Given the description of an element on the screen output the (x, y) to click on. 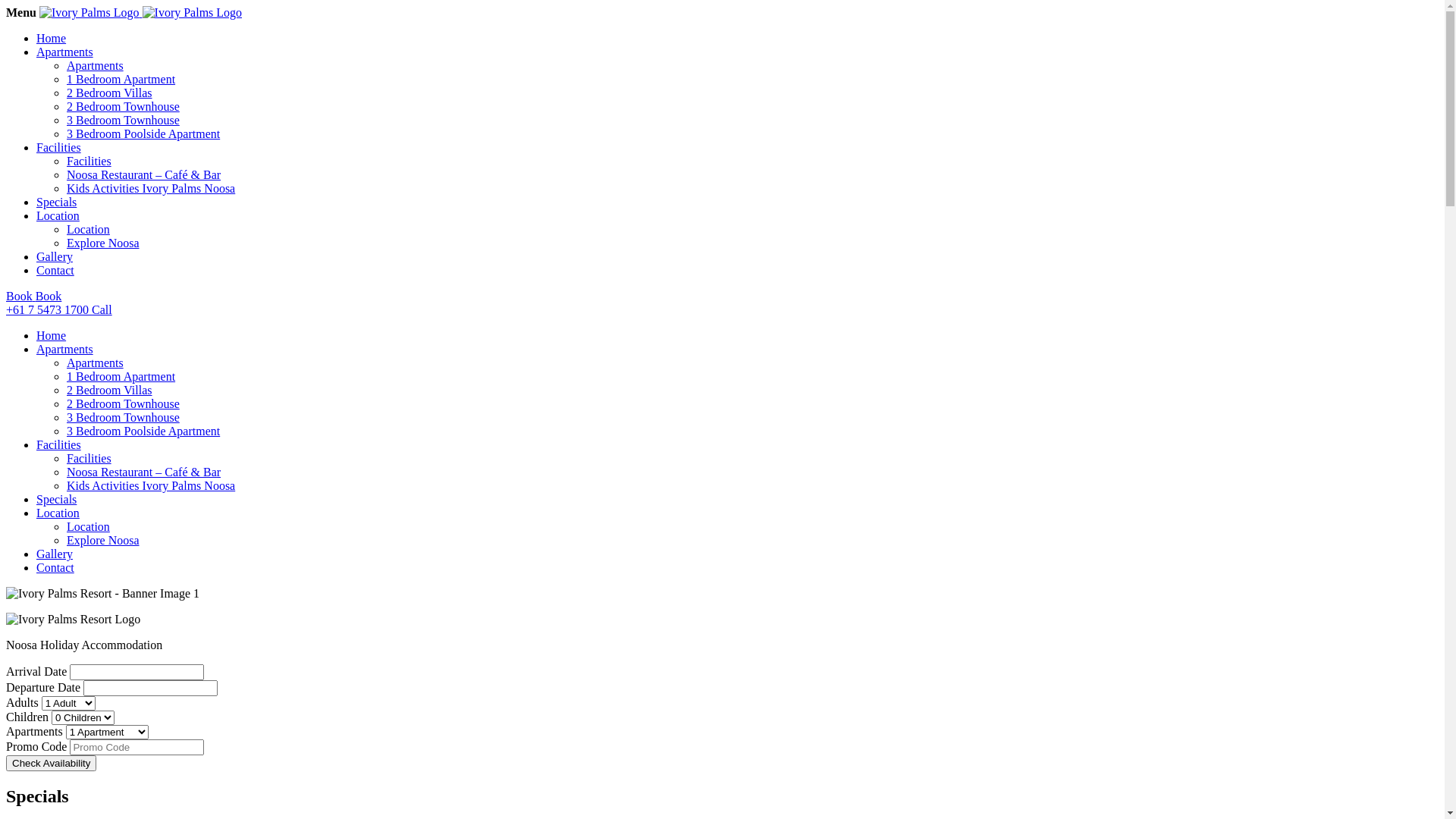
1 Bedroom Apartment Element type: text (120, 376)
Location Element type: text (87, 526)
3 Bedroom Townhouse Element type: text (122, 119)
Contact Element type: text (55, 567)
Home Element type: text (50, 335)
Location Element type: text (57, 512)
2 Bedroom Townhouse Element type: text (122, 403)
Specials Element type: text (56, 201)
Contact Element type: text (55, 269)
Specials Element type: text (56, 498)
2 Bedroom Townhouse Element type: text (122, 106)
2 Bedroom Villas Element type: text (109, 92)
Book Book Element type: text (722, 296)
1 Bedroom Apartment Element type: text (120, 78)
Apartments Element type: text (64, 51)
Facilities Element type: text (88, 160)
Kids Activities Ivory Palms Noosa Element type: text (150, 188)
Check Availability Element type: text (51, 763)
Facilities Element type: text (88, 457)
Explore Noosa Element type: text (102, 539)
Explore Noosa Element type: text (102, 242)
3 Bedroom Poolside Apartment Element type: text (142, 430)
Facilities Element type: text (58, 147)
Apartments Element type: text (64, 348)
Gallery Element type: text (54, 553)
Menu Element type: text (21, 12)
+61 7 5473 1700 Call Element type: text (722, 309)
Kids Activities Ivory Palms Noosa Element type: text (150, 485)
3 Bedroom Poolside Apartment Element type: text (142, 133)
Home Element type: text (50, 37)
2 Bedroom Villas Element type: text (109, 389)
Gallery Element type: text (54, 256)
3 Bedroom Townhouse Element type: text (122, 417)
Apartments Element type: text (94, 362)
Location Element type: text (57, 215)
Facilities Element type: text (58, 444)
Location Element type: text (87, 228)
Apartments Element type: text (94, 65)
